Given the description of an element on the screen output the (x, y) to click on. 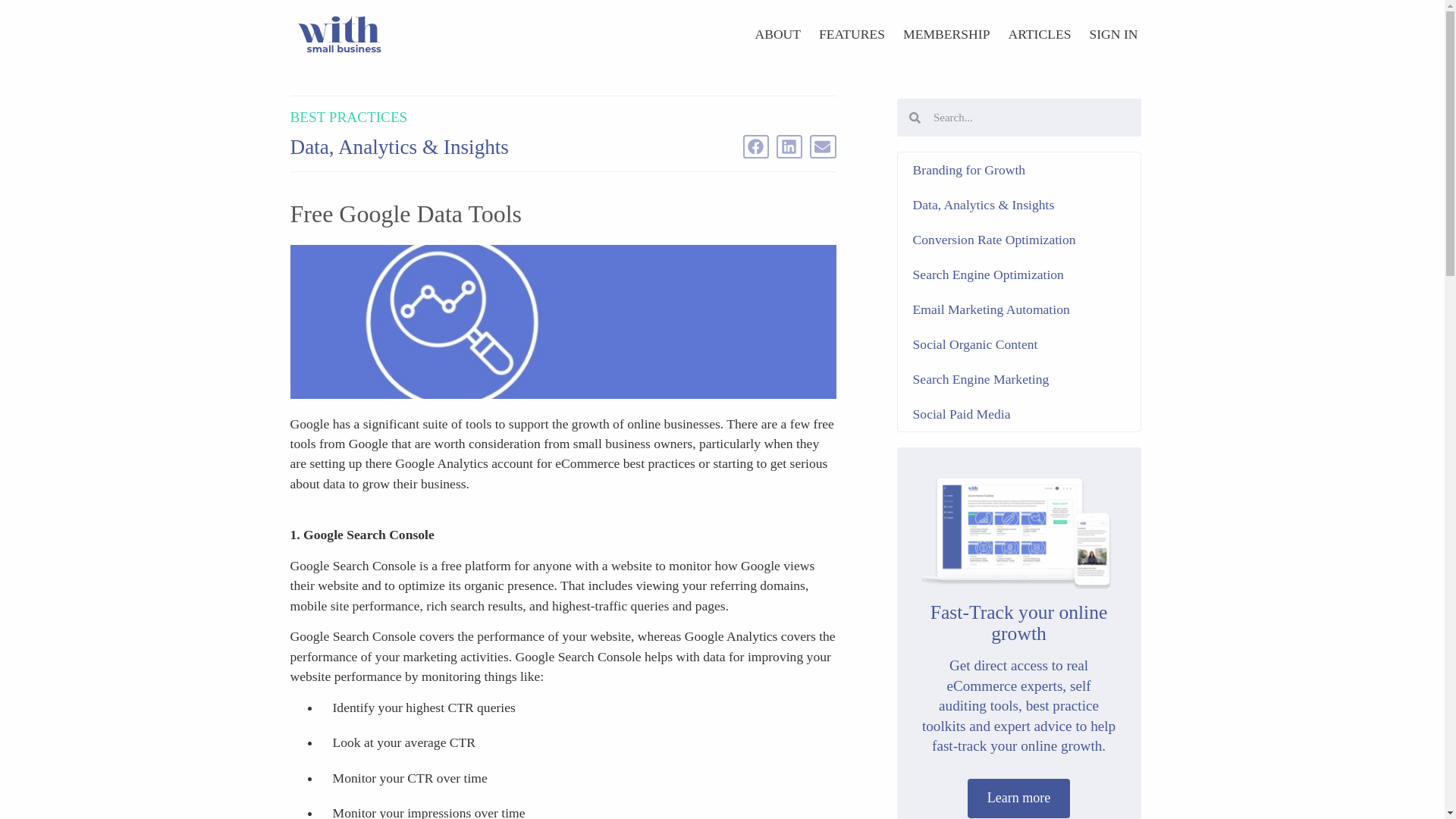
FEATURES (851, 33)
Email Marketing Automation (1019, 308)
MEMBERSHIP (945, 33)
ABOUT (777, 33)
Branding for Growth (1019, 169)
Social Organic Content (1019, 343)
Search Engine Marketing (1019, 378)
Conversion Rate Optimization (1019, 239)
Social Paid Media (1019, 413)
ARTICLES (1039, 33)
SIGN IN (1113, 33)
Search Engine Optimization (1019, 274)
